Given the description of an element on the screen output the (x, y) to click on. 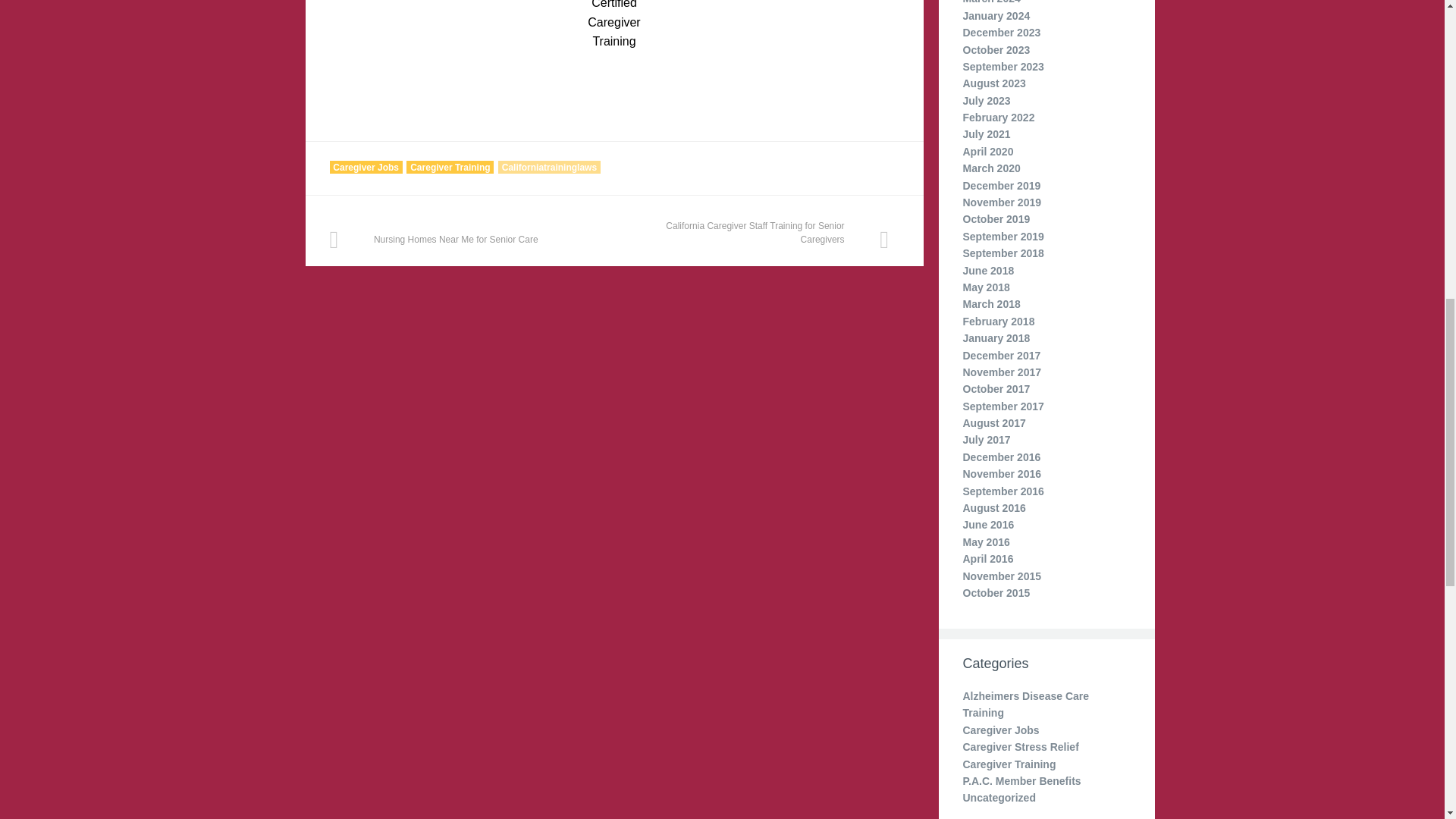
Caregiver Jobs (365, 166)
California Caregiver Staff Training for Senior Caregivers (757, 237)
Caregiver Training (449, 166)
Nursing Homes Near Me for Senior Care (460, 237)
Californiatraininglaws (548, 166)
March 2024 (991, 2)
